Given the description of an element on the screen output the (x, y) to click on. 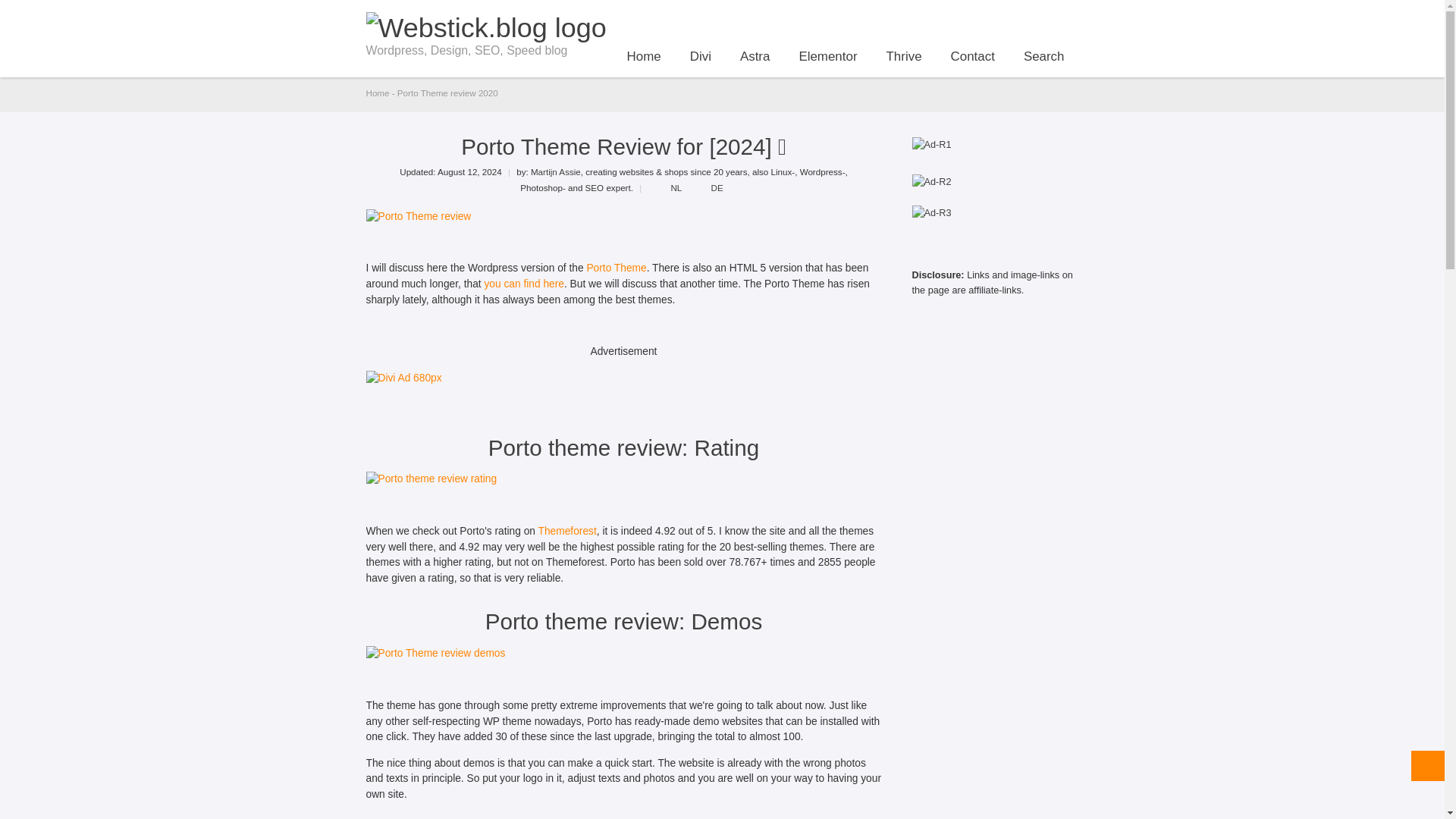
Themeforest (567, 531)
YouTube (1019, 18)
Dutch (666, 187)
Visit our Youtube channel (1019, 18)
Thrive (904, 57)
LinkedIn (1068, 18)
DE (708, 187)
Porto Theme review (417, 217)
NL (665, 187)
Go to our Linkedin (1068, 18)
